Given the description of an element on the screen output the (x, y) to click on. 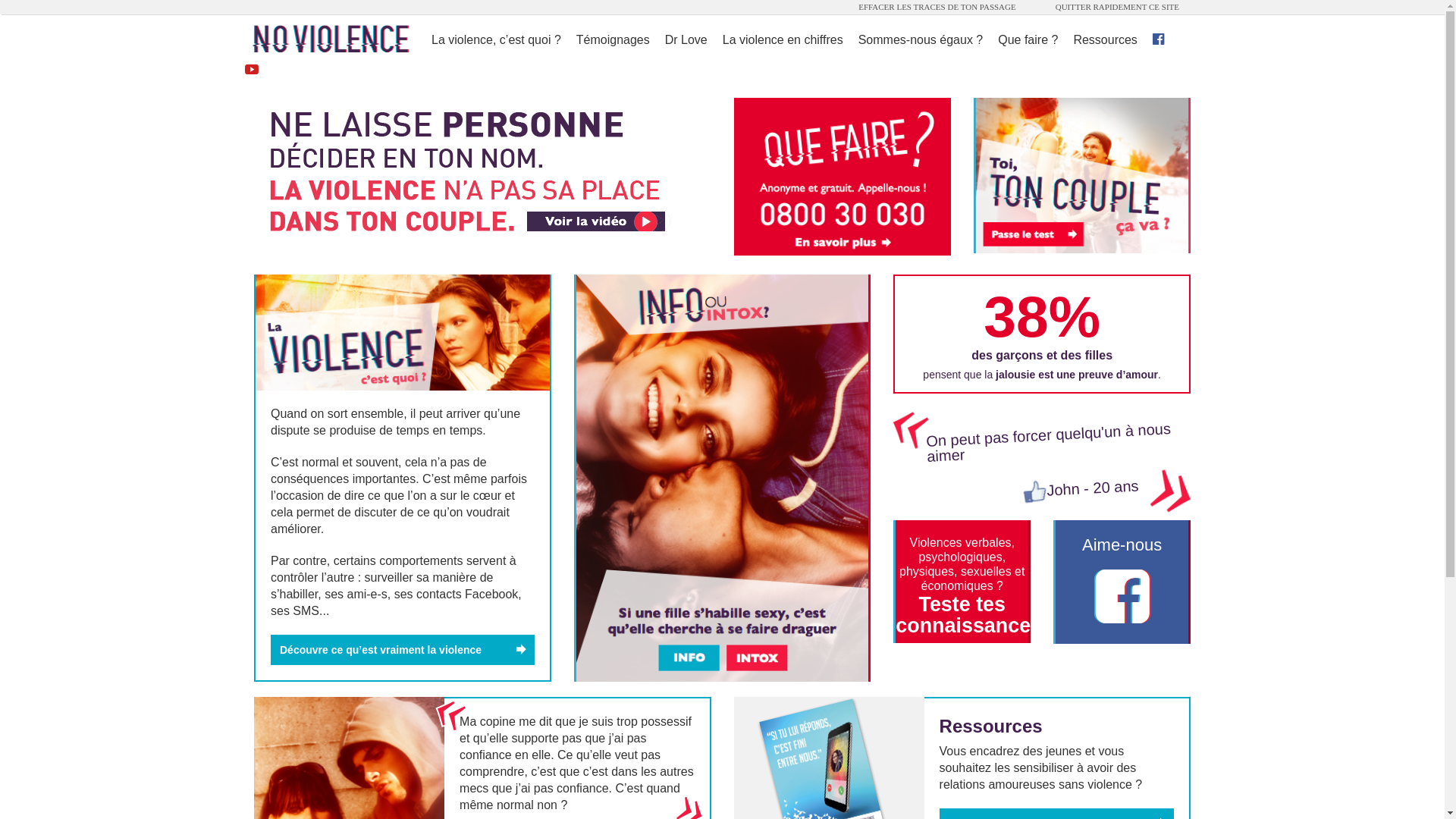
EFFACER LES TRACES DE TON PASSAGE Element type: text (937, 7)
Dr Love Element type: text (686, 39)
QUITTER RAPIDEMENT CE SITE Element type: text (1117, 7)
Que faire ? Element type: text (1027, 39)
La violence en chiffres Element type: text (782, 39)
Aime-nous Element type: text (1121, 581)
Ressources Element type: text (1104, 39)
